Given the description of an element on the screen output the (x, y) to click on. 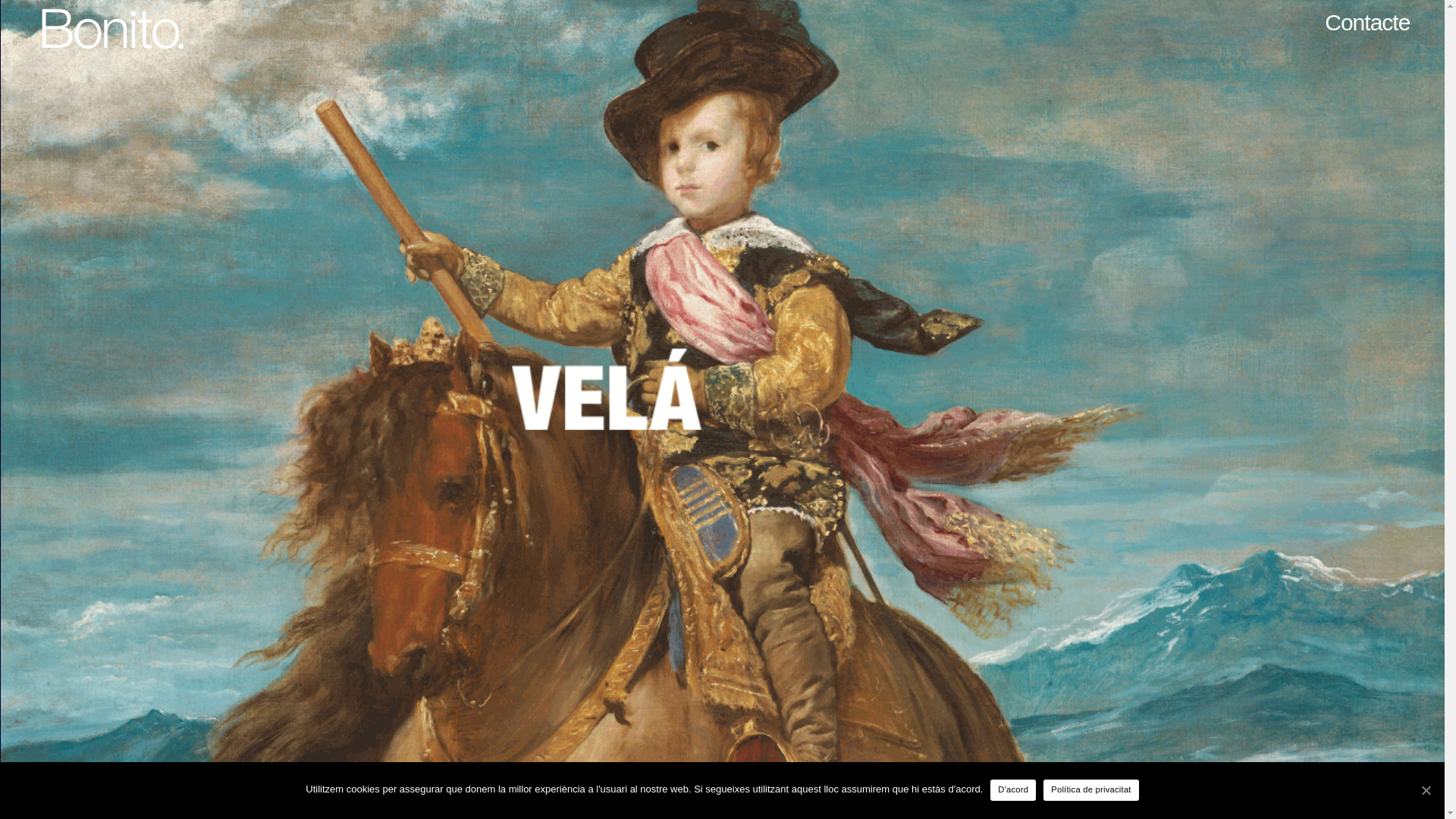
D'acord Element type: text (1012, 789)
